Given the description of an element on the screen output the (x, y) to click on. 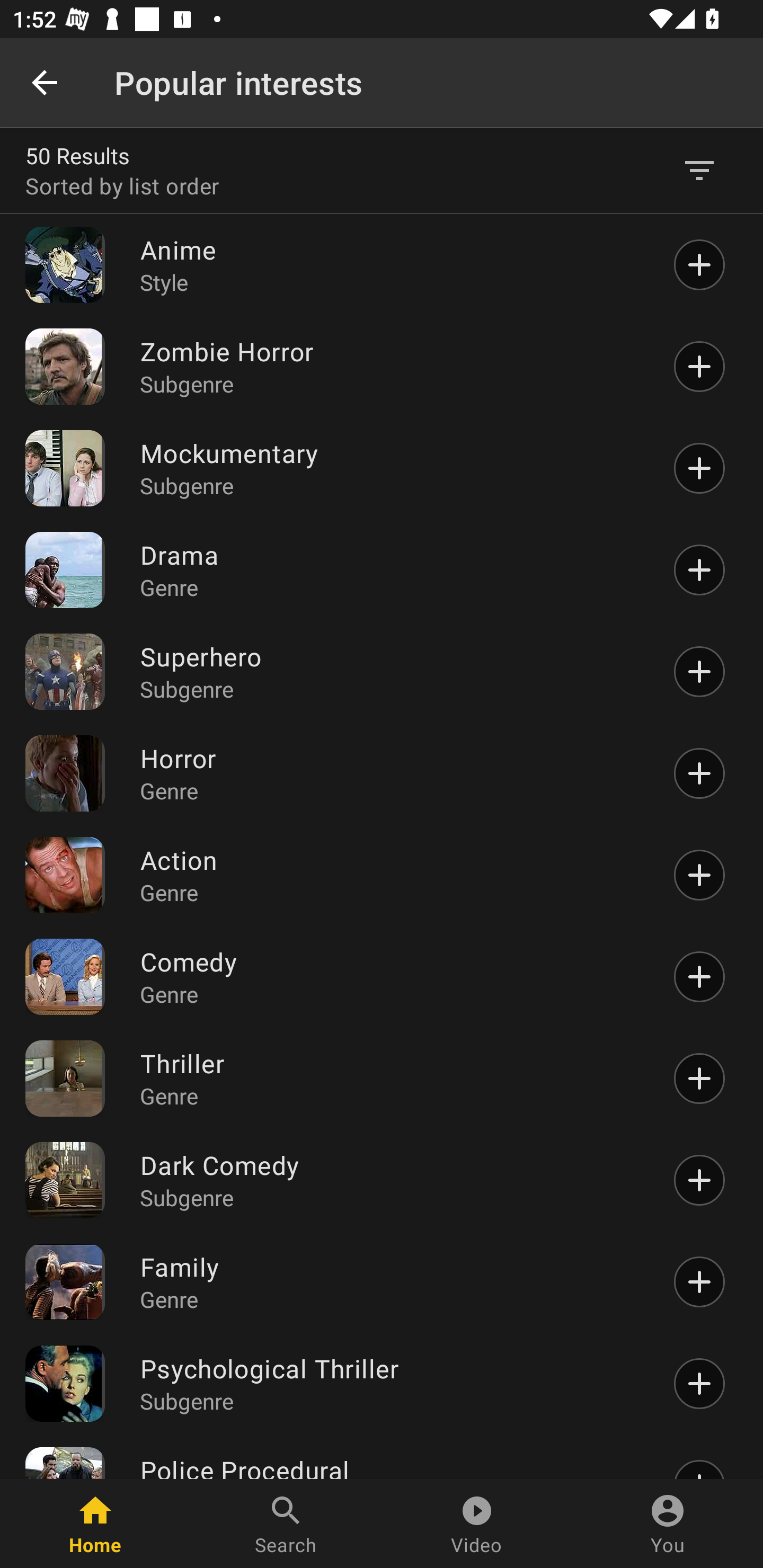
Anime Style (390, 264)
Zombie Horror Subgenre (390, 365)
Mockumentary Subgenre (390, 467)
Drama Genre (390, 569)
Superhero Subgenre (390, 671)
Horror Genre (390, 773)
Action Genre (390, 875)
Comedy Genre (390, 976)
Thriller Genre (390, 1077)
Dark Comedy Subgenre (390, 1179)
Family Genre (390, 1281)
Police Procedural (390, 1465)
Search (285, 1523)
Video (476, 1523)
You (667, 1523)
